Given the description of an element on the screen output the (x, y) to click on. 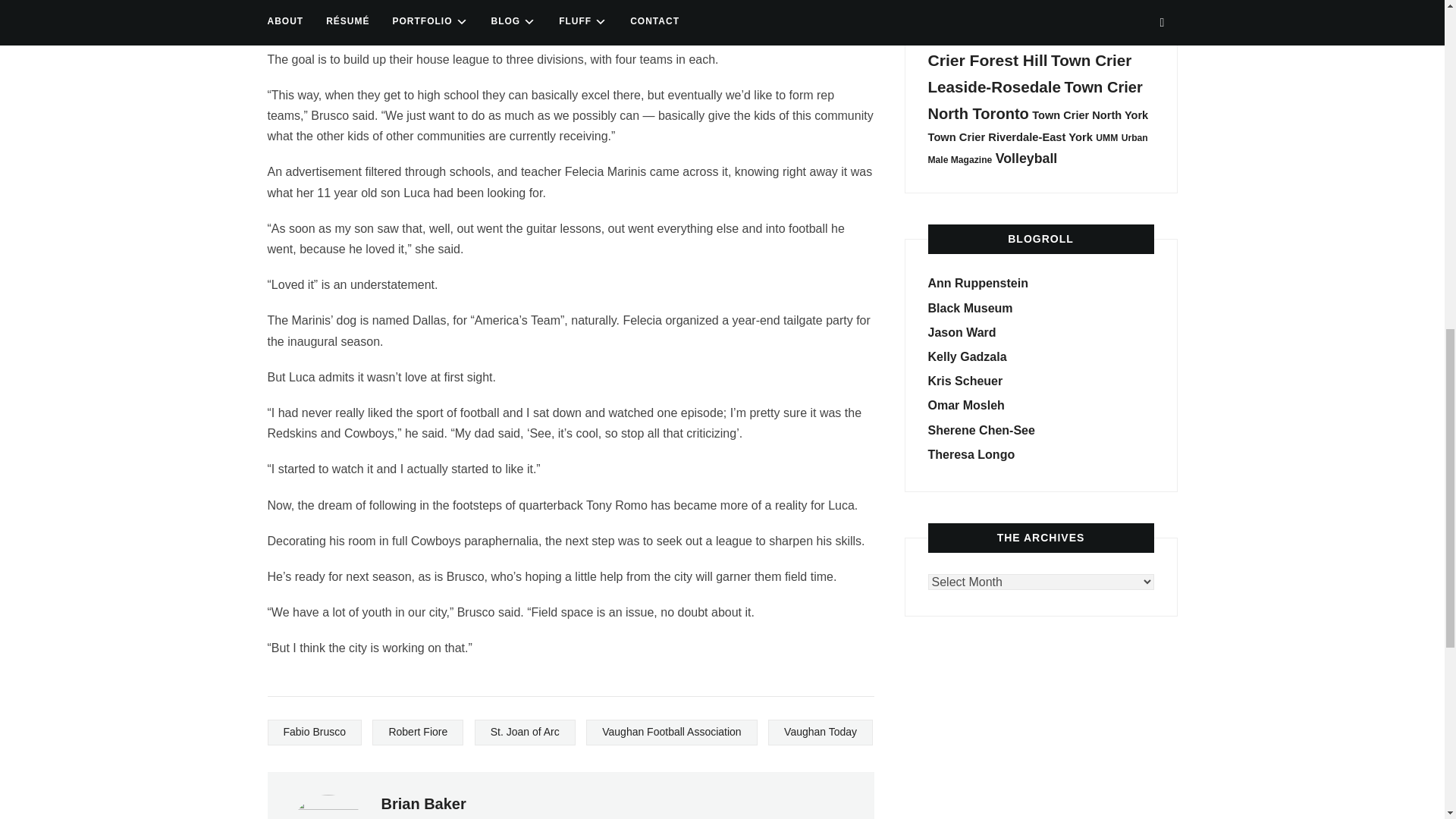
Posts by Brian Baker (422, 803)
Kris Scheuer (965, 380)
Ann Ruppenstein (977, 282)
Kelly Gadzala (967, 356)
Sherene Chen-See (981, 430)
Lurid Lectures for the Morbidly Curious (970, 308)
